Given the description of an element on the screen output the (x, y) to click on. 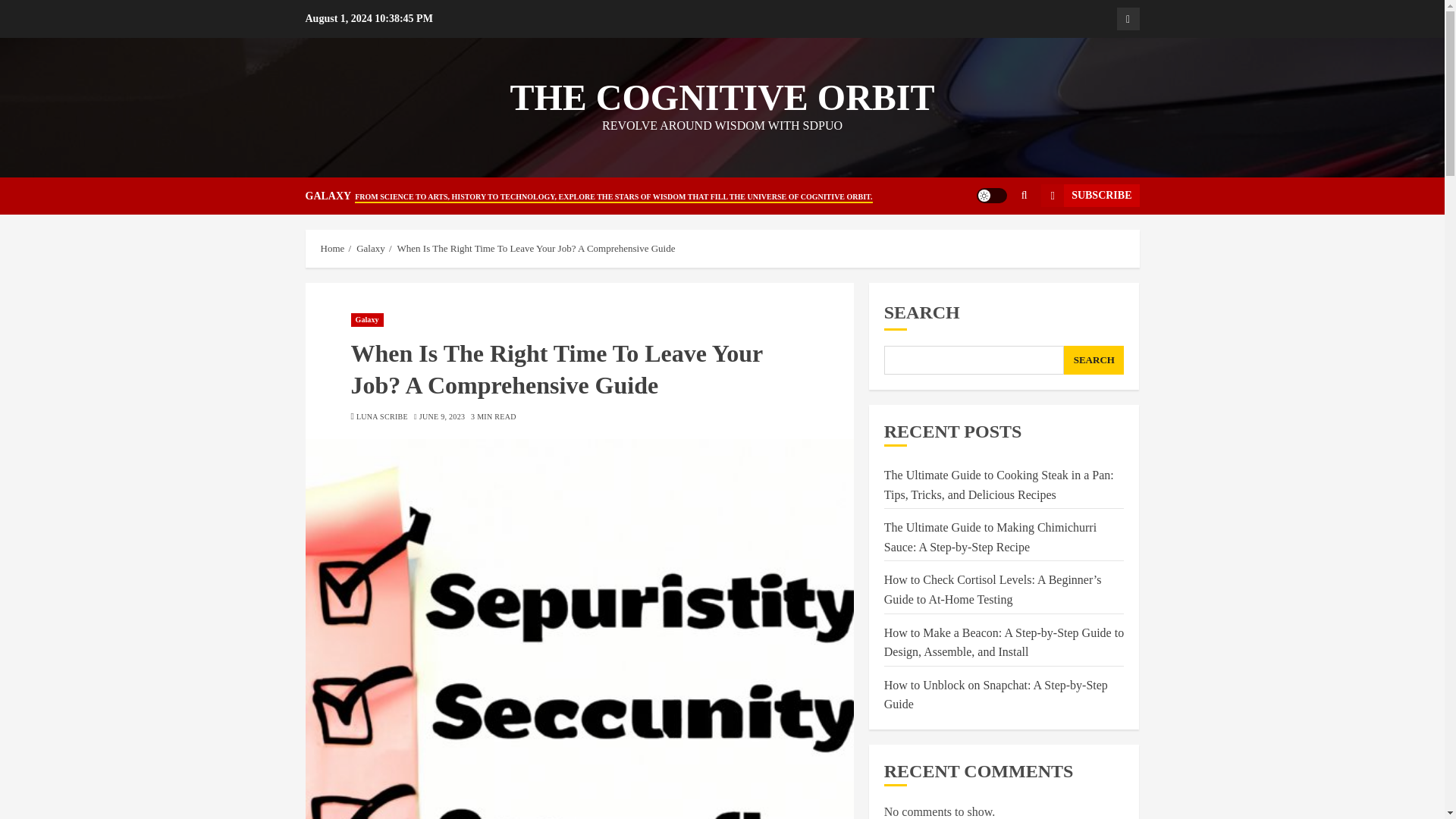
SEARCH (1094, 359)
Search (994, 241)
Galaxy (366, 319)
Galaxy (1127, 18)
JUNE 9, 2023 (442, 416)
THE COGNITIVE ORBIT (721, 96)
Home (331, 248)
LUNA SCRIBE (381, 416)
Galaxy (370, 248)
How to Unblock on Snapchat: A Step-by-Step Guide (995, 694)
SUBSCRIBE (1089, 195)
